Given the description of an element on the screen output the (x, y) to click on. 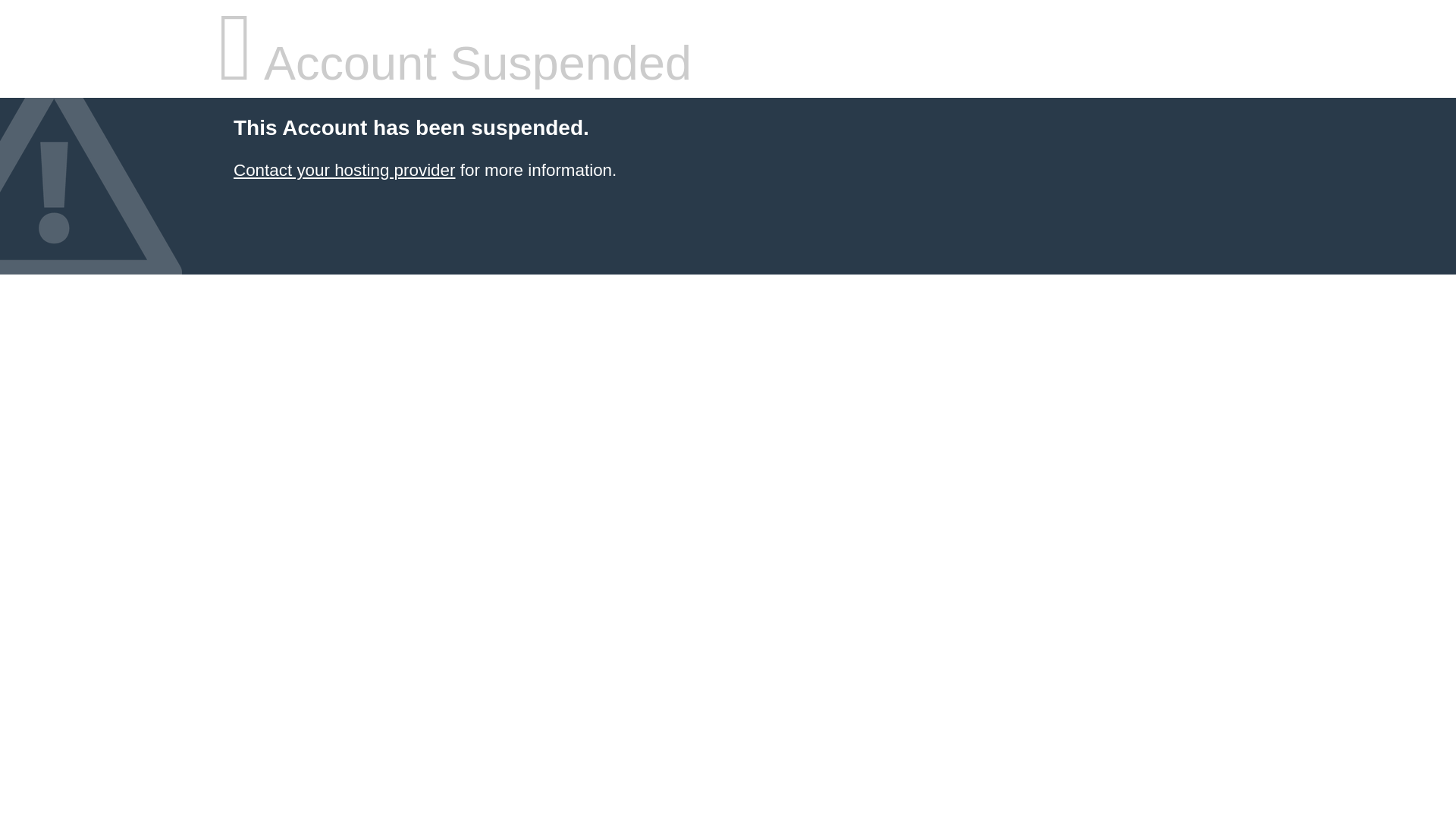
Contact your hosting provider (343, 169)
